Given the description of an element on the screen output the (x, y) to click on. 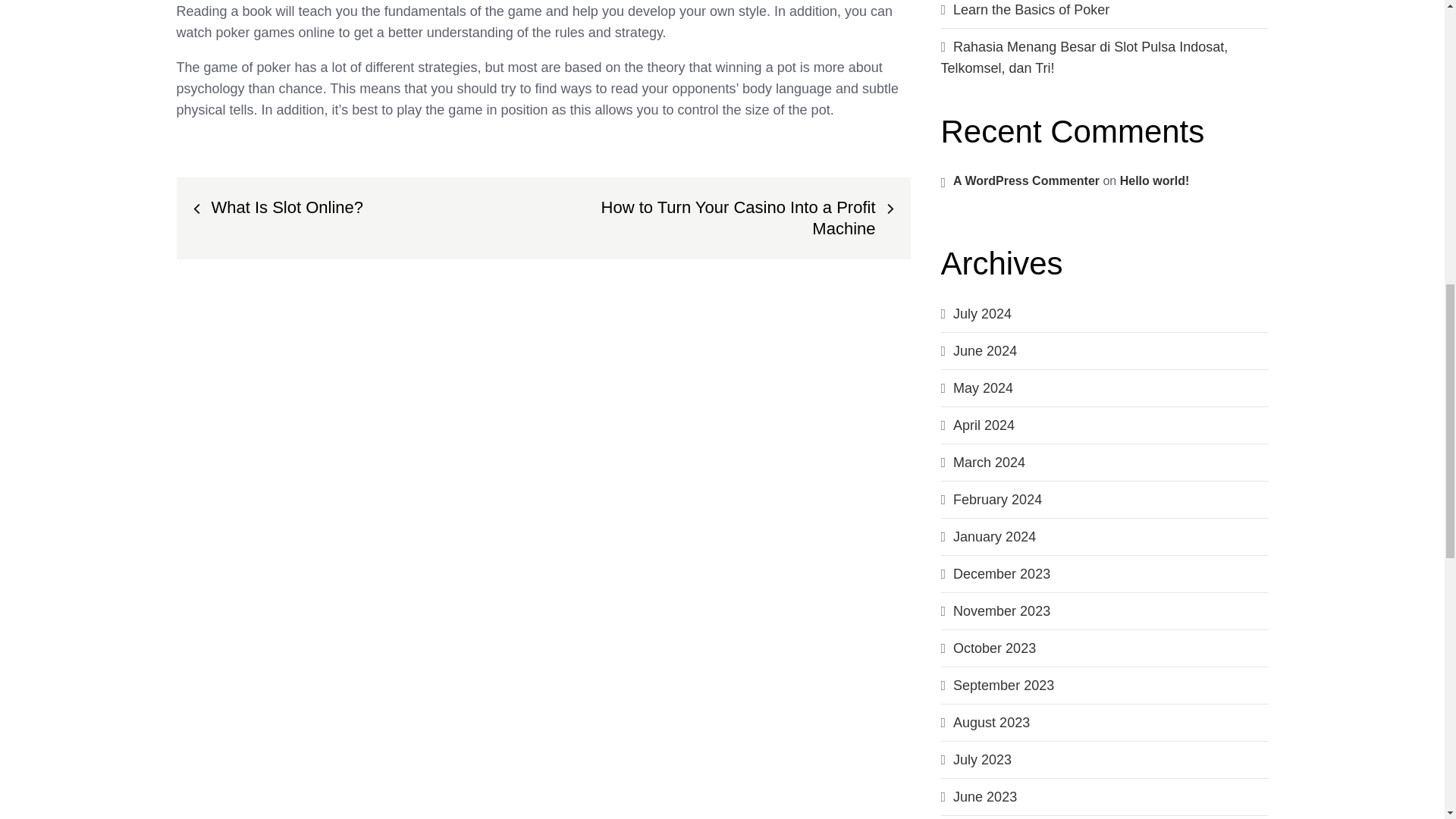
August 2023 (991, 722)
June 2024 (984, 350)
Learn the Basics of Poker (1031, 9)
July 2024 (982, 313)
Hello world! (1154, 180)
A WordPress Commenter (1026, 180)
May 2024 (983, 387)
June 2023 (984, 796)
April 2024 (983, 425)
September 2023 (1003, 685)
December 2023 (1001, 573)
February 2024 (997, 499)
January 2024 (994, 536)
November 2023 (1001, 611)
